Given the description of an element on the screen output the (x, y) to click on. 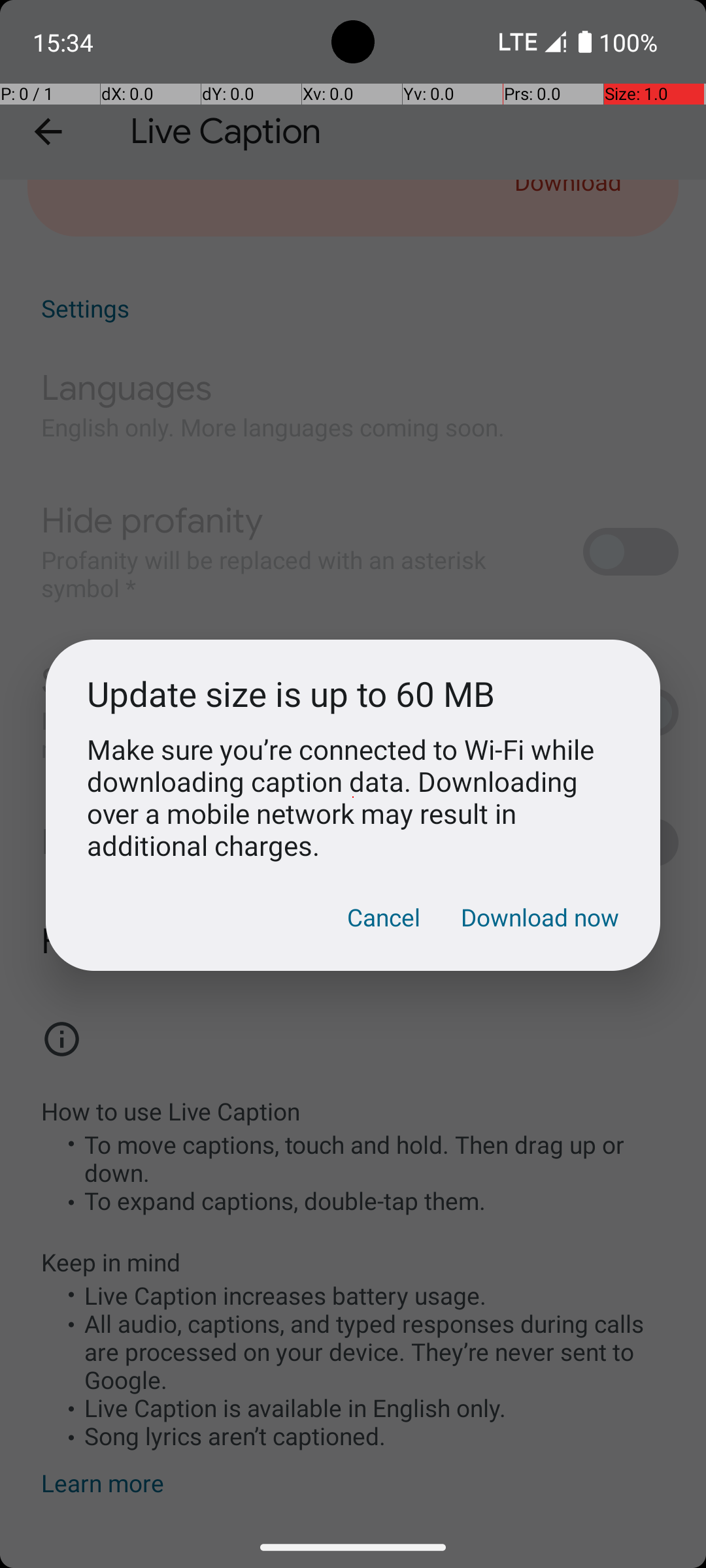
Update size is up to 60 MB Element type: android.widget.TextView (352, 693)
Make sure you’re connected to Wi-Fi while downloading caption data. Downloading over a mobile network may result in additional charges. Element type: android.widget.TextView (352, 796)
Download now Element type: android.widget.Button (539, 916)
